Given the description of an element on the screen output the (x, y) to click on. 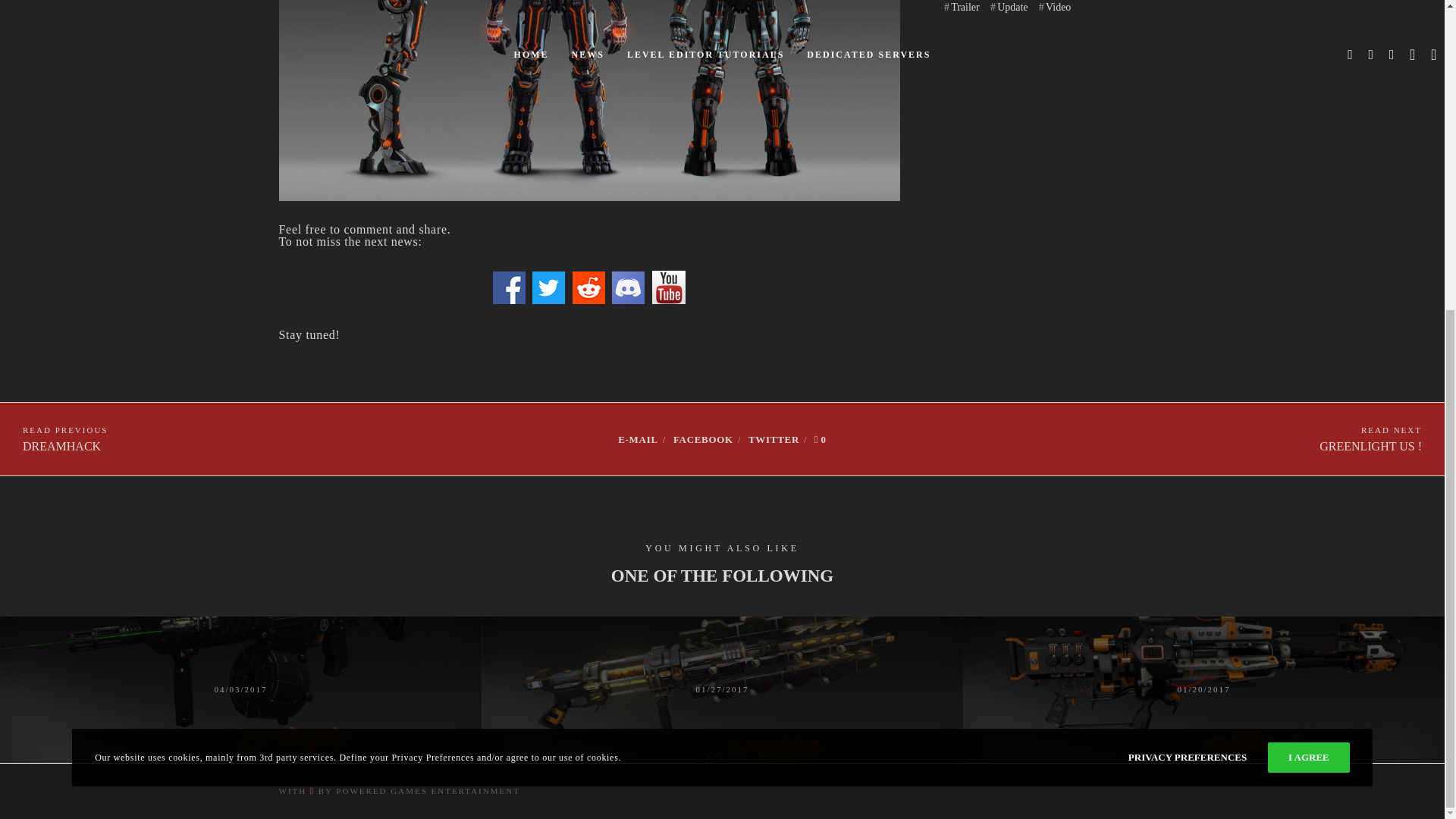
TWITTER (773, 439)
Twitter (65, 438)
Discord (548, 287)
New Robot (628, 287)
FACEBOOK (637, 439)
0 (702, 439)
E-MAIL (820, 439)
Reddit (637, 439)
New Robot (588, 287)
